Given the description of an element on the screen output the (x, y) to click on. 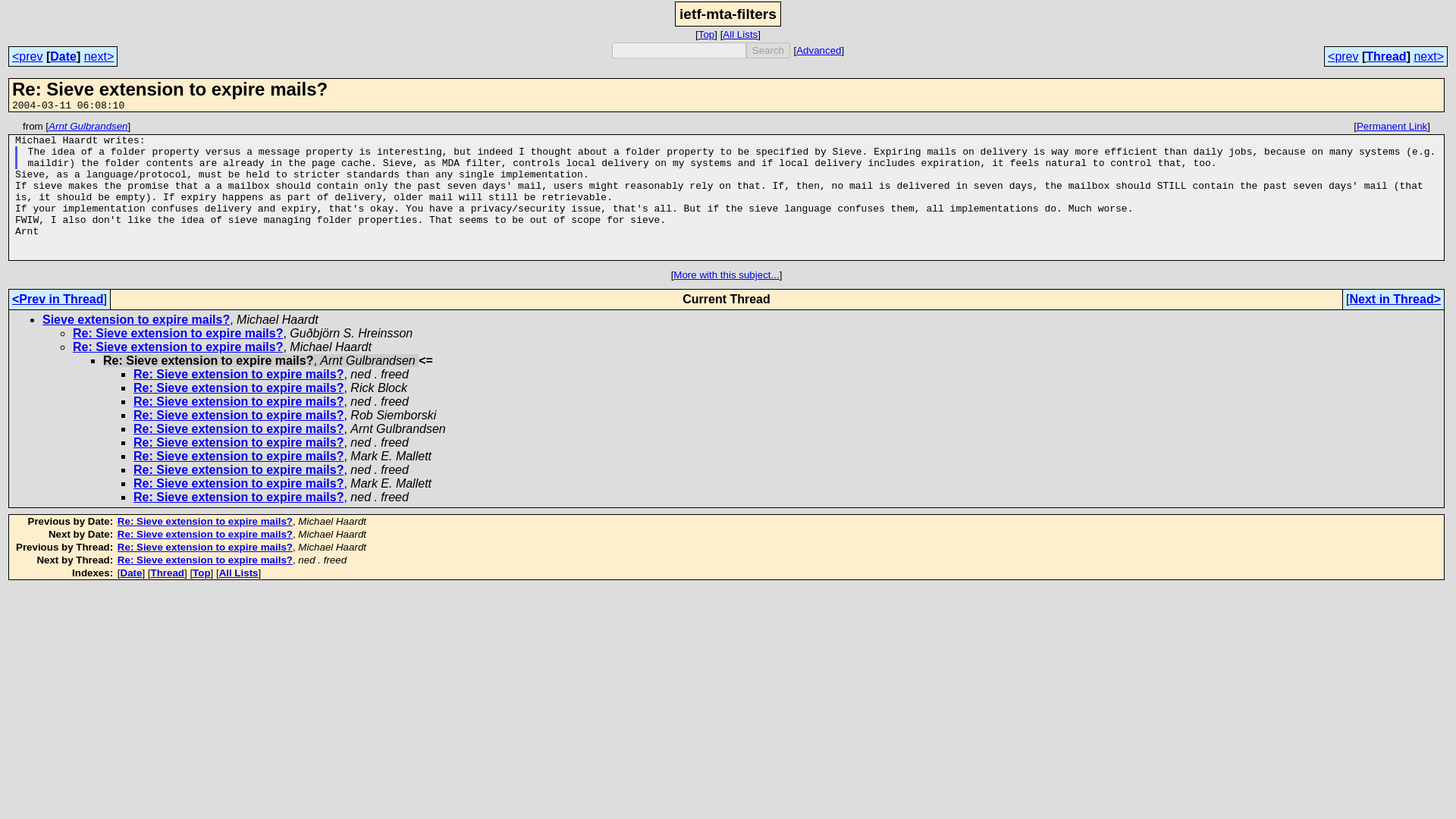
Re: Sieve extension to expire mails? (238, 482)
Re: Sieve extension to expire mails? (204, 546)
Top (200, 572)
Re: Sieve extension to expire mails? (204, 533)
Re: Sieve extension to expire mails? (238, 373)
Re: Sieve extension to expire mails? (204, 559)
Re: Sieve extension to expire mails? (177, 332)
Re: Sieve extension to expire mails? (238, 469)
Top (706, 34)
Re: Sieve extension to expire mails? (204, 521)
